Given the description of an element on the screen output the (x, y) to click on. 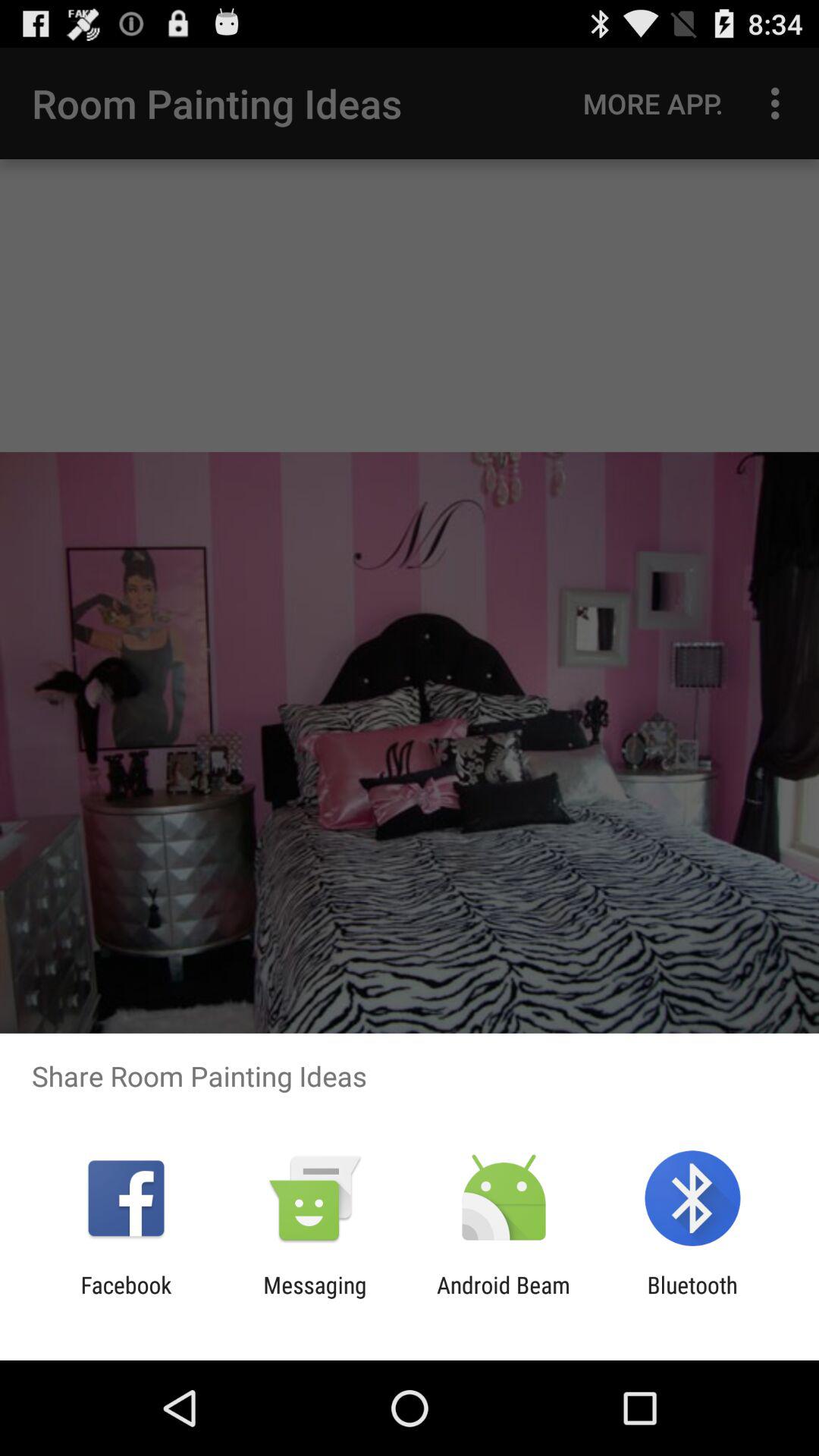
flip to android beam (503, 1298)
